Given the description of an element on the screen output the (x, y) to click on. 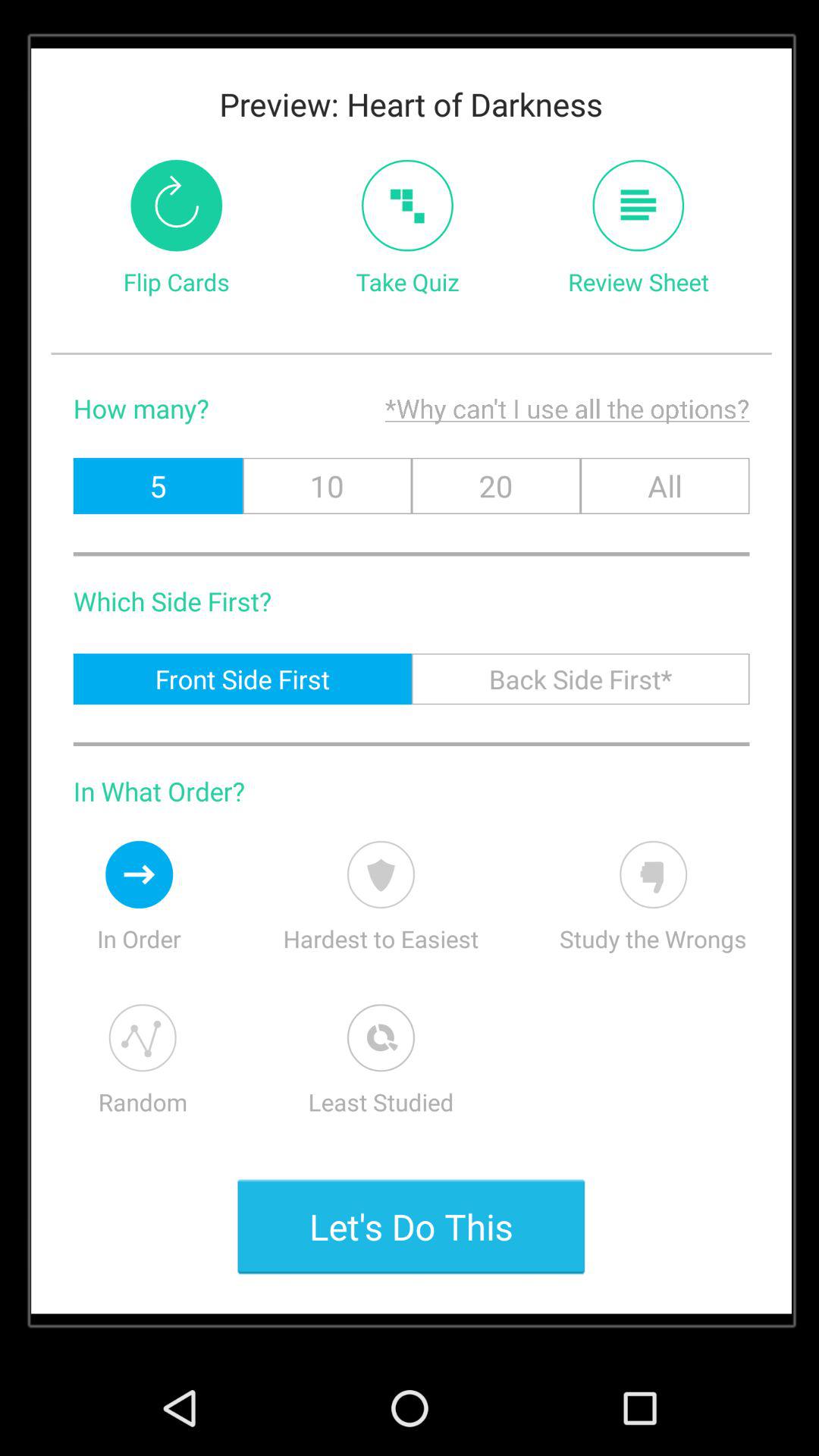
switch to random (142, 1037)
